Given the description of an element on the screen output the (x, y) to click on. 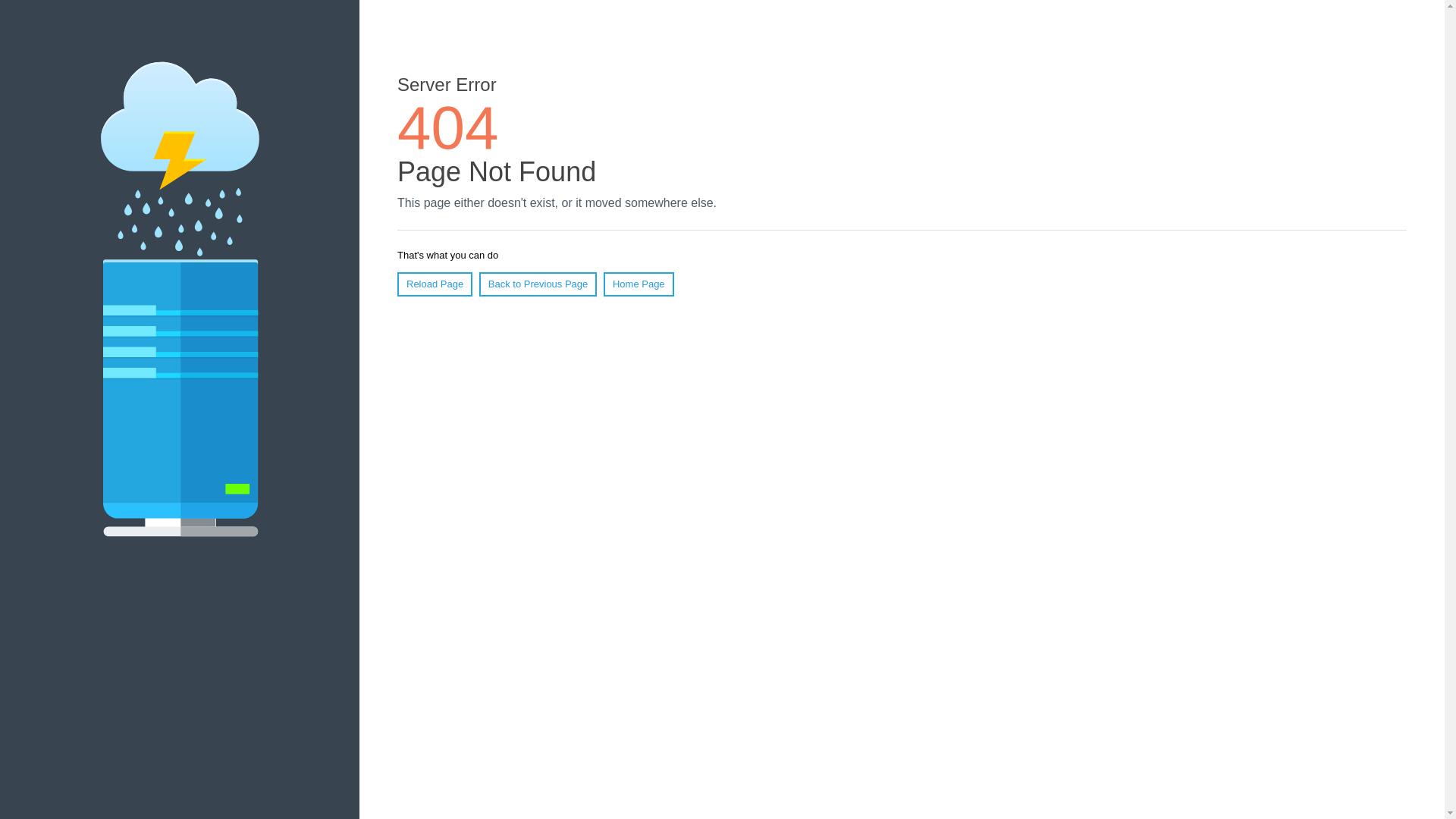
Back to Previous Page Element type: text (538, 284)
Reload Page Element type: text (434, 284)
Home Page Element type: text (638, 284)
